Given the description of an element on the screen output the (x, y) to click on. 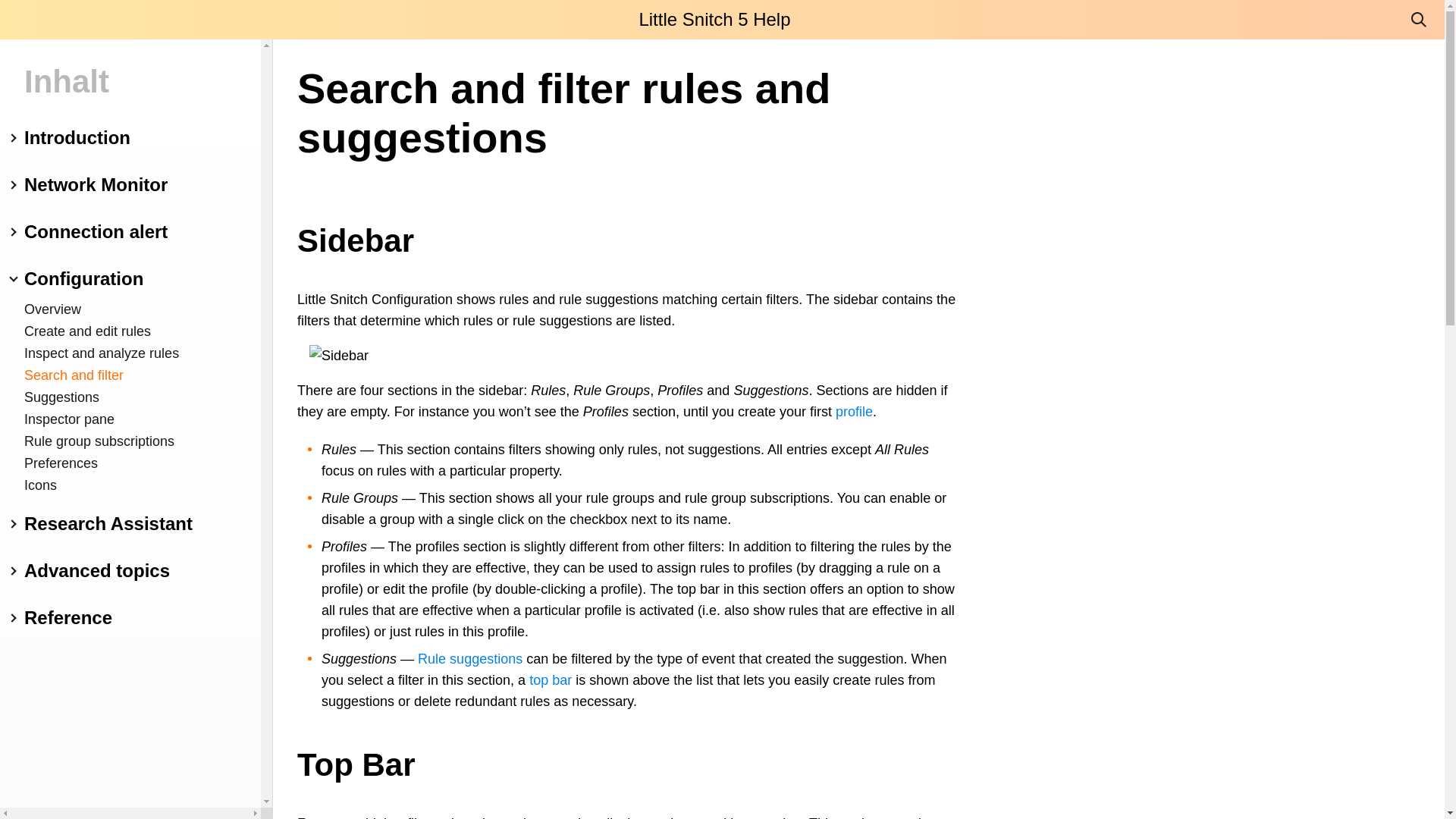
Create and edit rules (130, 332)
Preferences (130, 463)
Icons (130, 485)
Overview (130, 309)
Inspect and analyze rules (130, 353)
Inspector pane (130, 419)
Rule group subscriptions (130, 441)
Suggestions (130, 397)
Search and filter (130, 375)
